Given the description of an element on the screen output the (x, y) to click on. 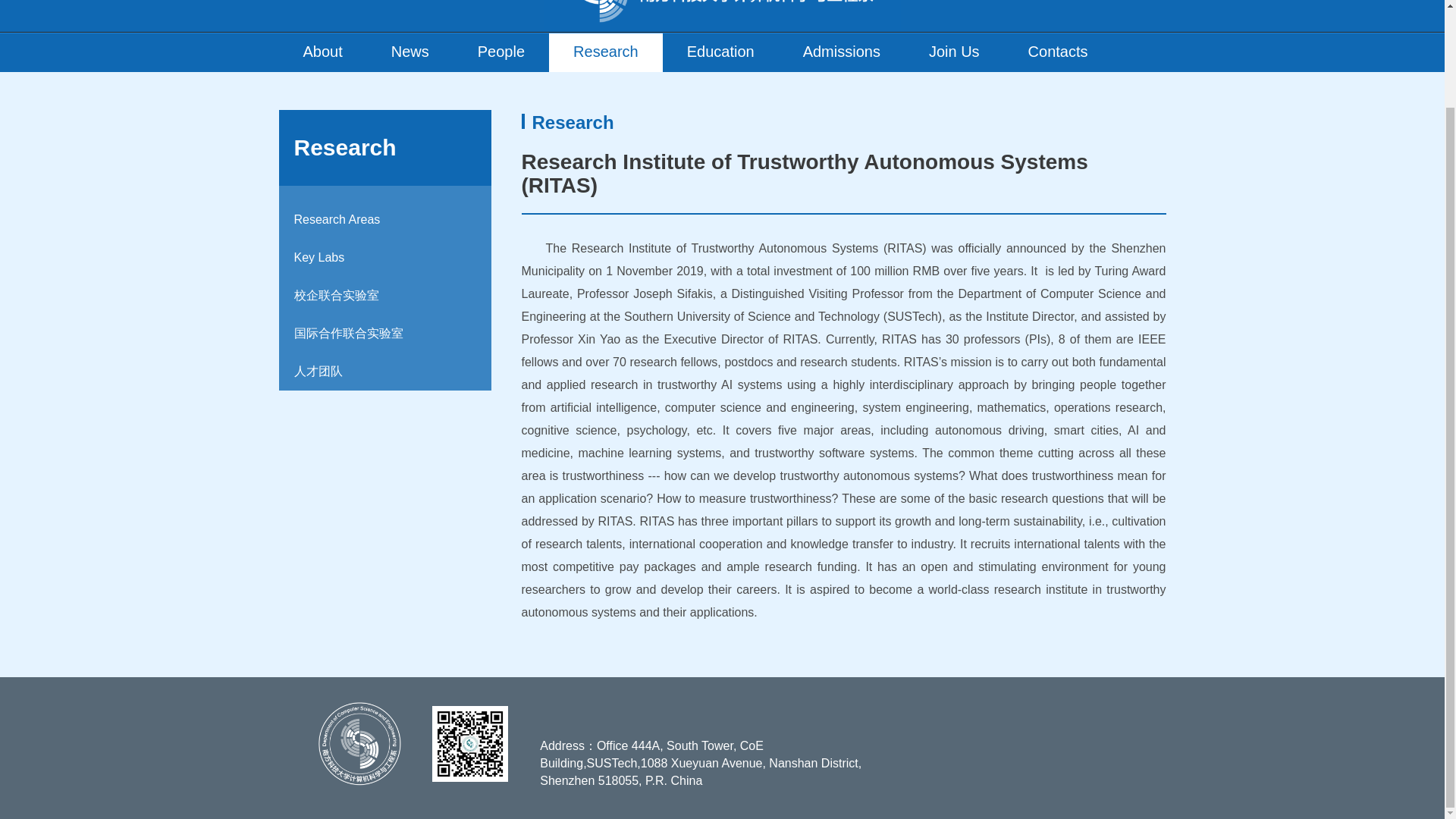
Education (720, 52)
Join Us (954, 52)
News (409, 52)
People (500, 52)
Research (605, 52)
About (322, 52)
Admissions (841, 52)
